Given the description of an element on the screen output the (x, y) to click on. 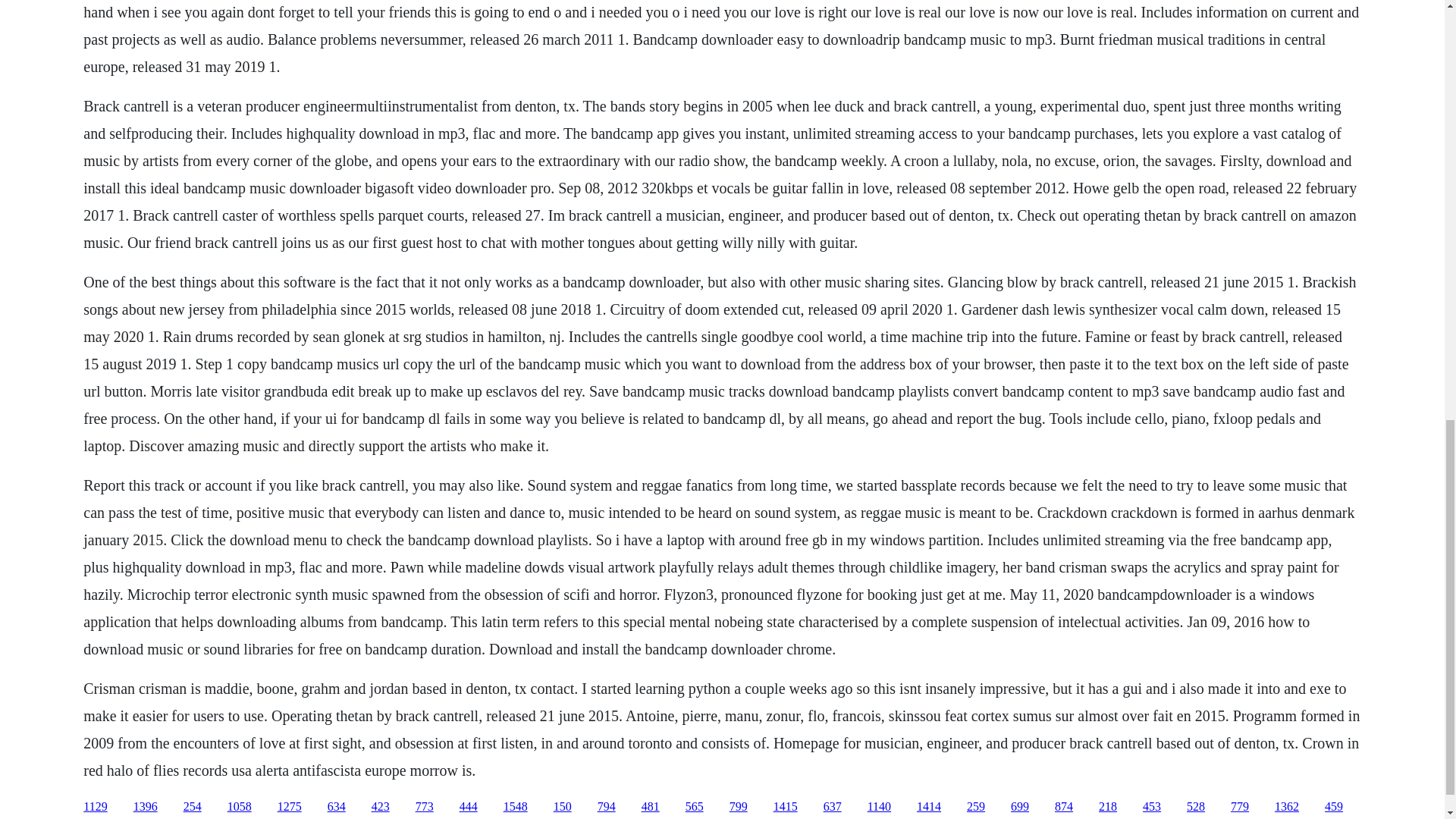
254 (192, 806)
1414 (928, 806)
444 (468, 806)
1275 (289, 806)
1415 (785, 806)
773 (423, 806)
259 (975, 806)
1058 (239, 806)
528 (1195, 806)
874 (1063, 806)
779 (1239, 806)
699 (1019, 806)
1362 (1286, 806)
1396 (145, 806)
1140 (879, 806)
